Given the description of an element on the screen output the (x, y) to click on. 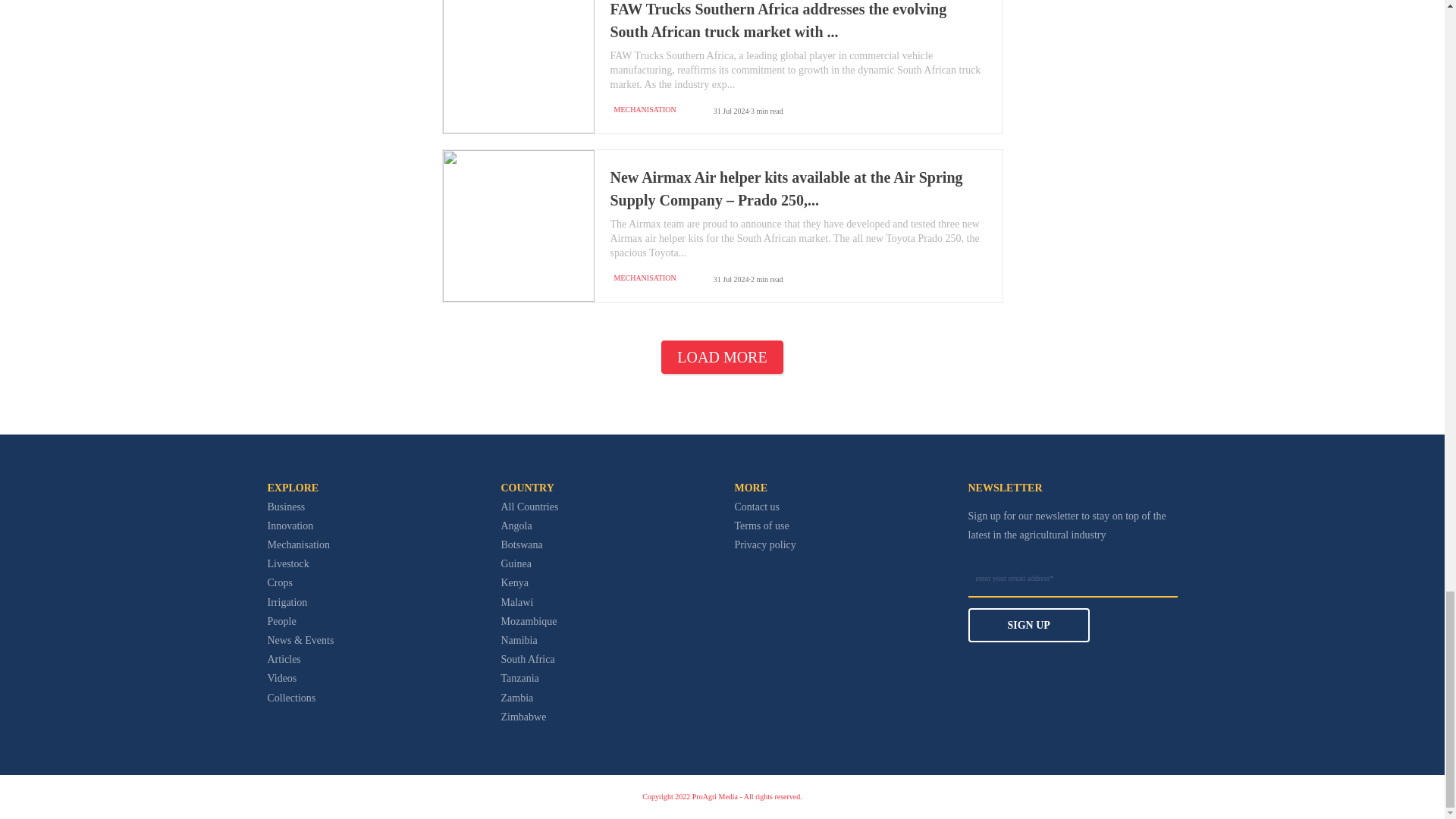
SIGN UP (1072, 605)
Facebook (741, 599)
Instagram (768, 599)
YouTube (794, 599)
